Given the description of an element on the screen output the (x, y) to click on. 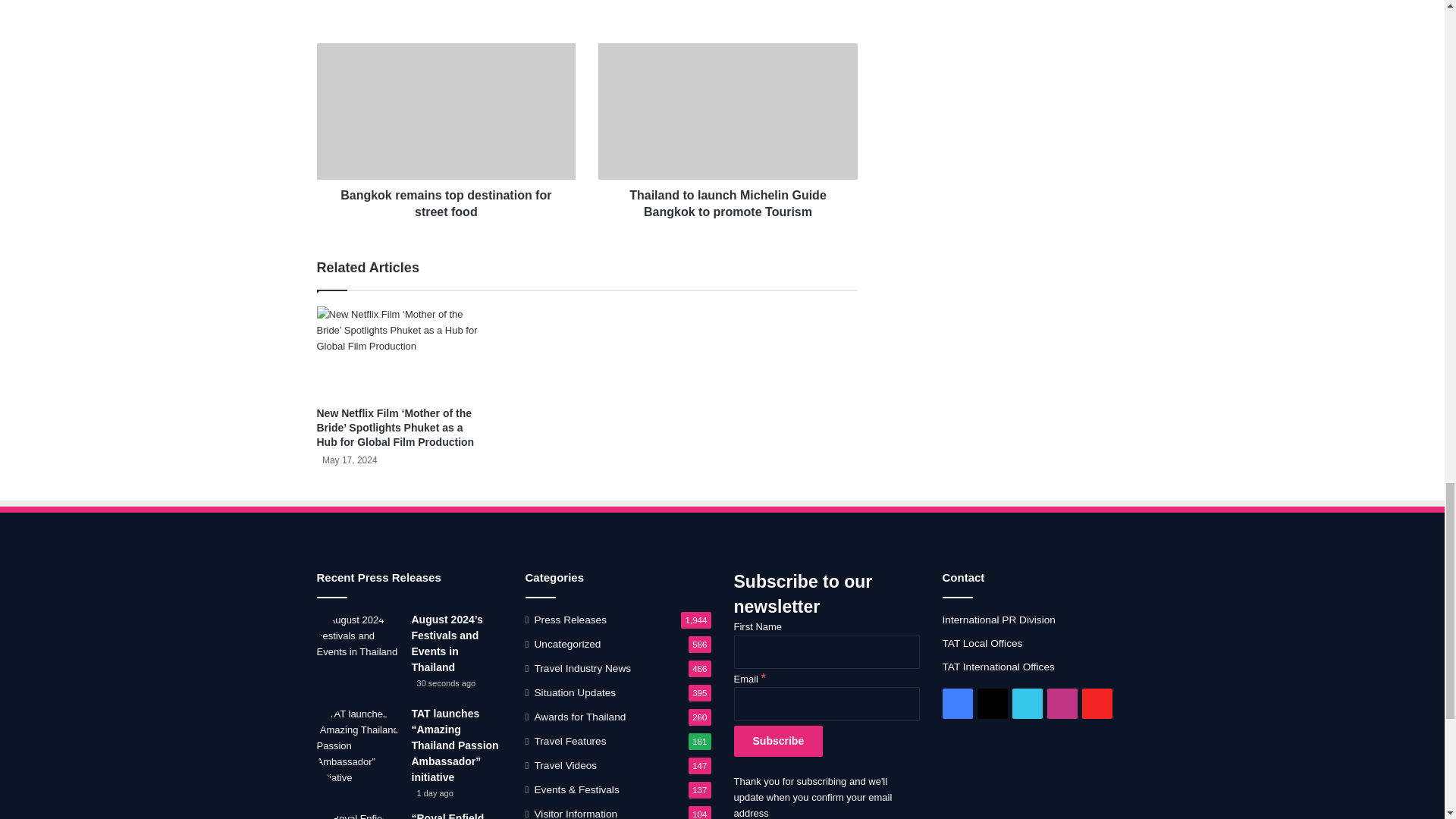
Subscribe (778, 740)
